Given the description of an element on the screen output the (x, y) to click on. 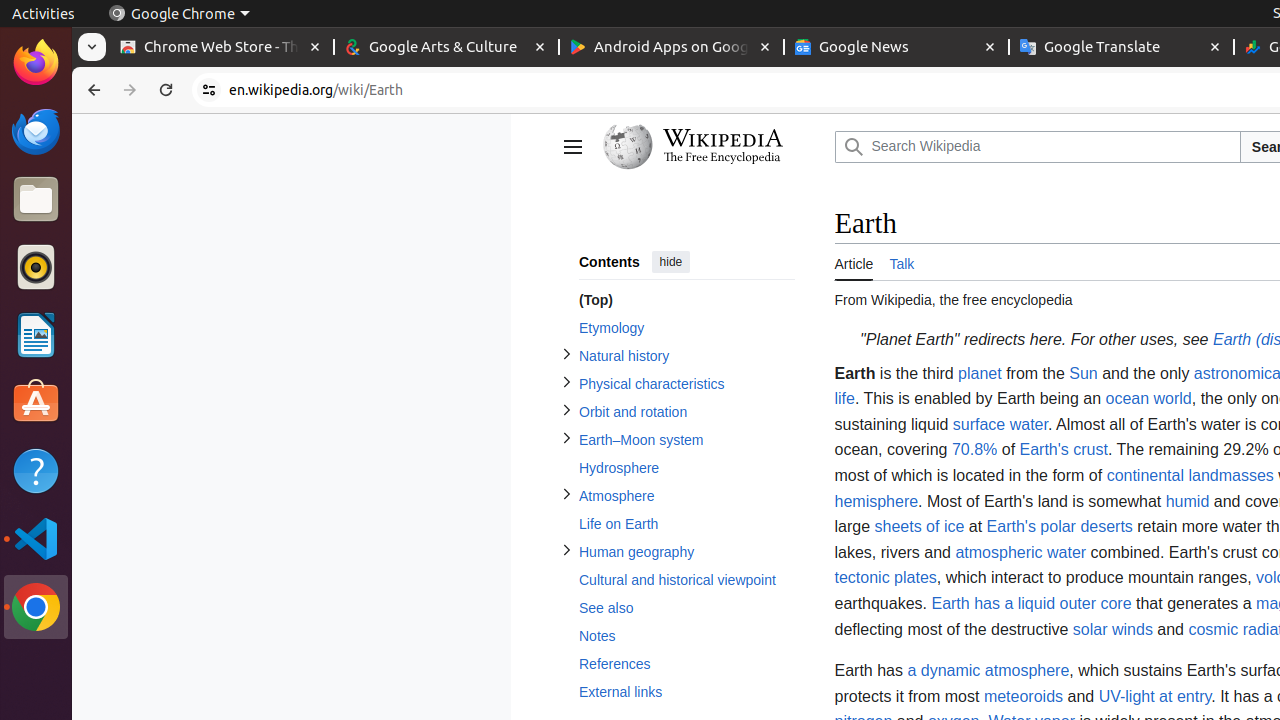
View site information Element type: push-button (209, 90)
deserts Element type: link (1106, 527)
surface water Element type: link (1000, 423)
Cultural and historical viewpoint Element type: link (686, 580)
ocean world Element type: link (1148, 399)
